Given the description of an element on the screen output the (x, y) to click on. 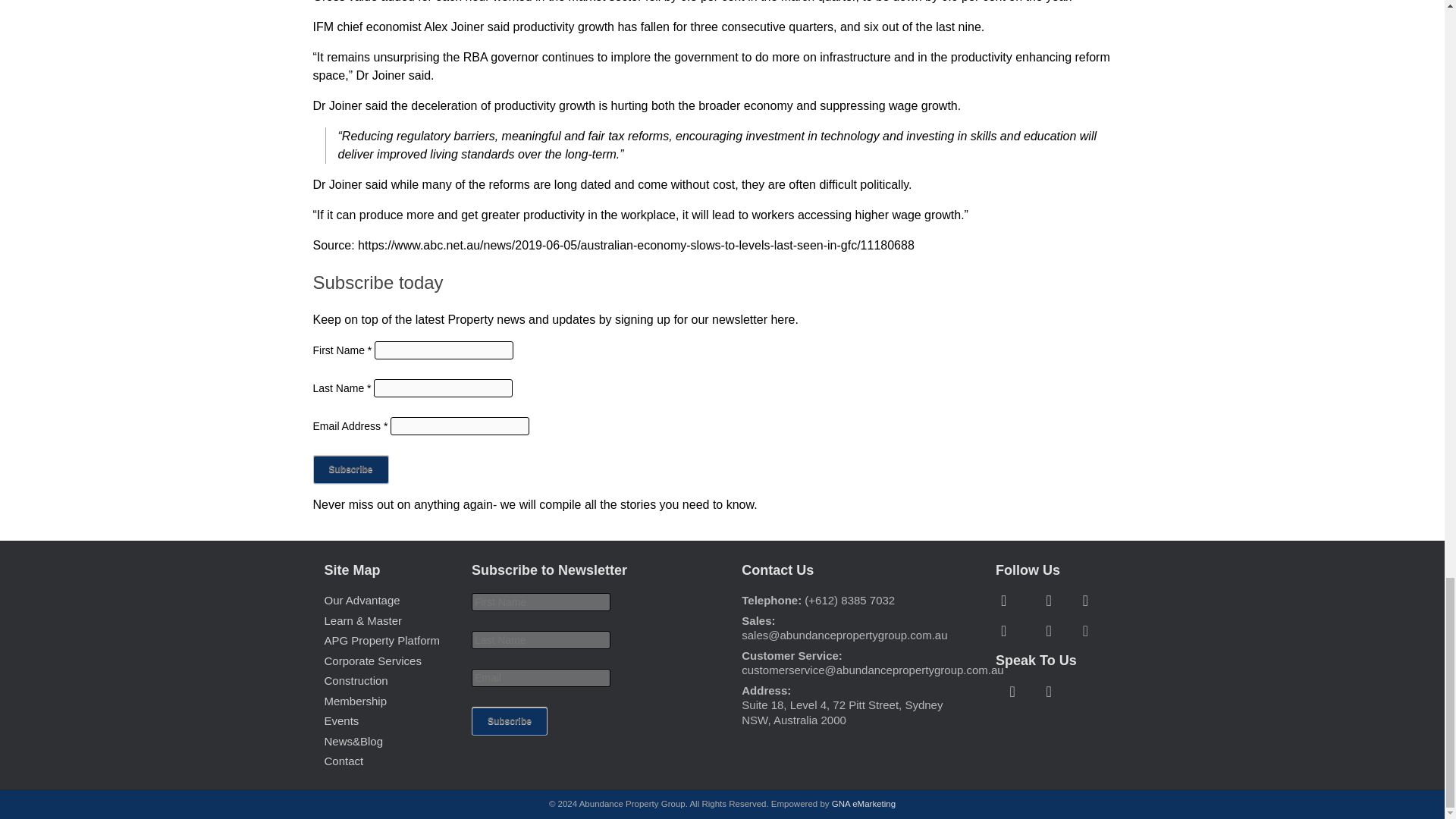
Subscribe (509, 720)
Subscribe (350, 469)
